Given the description of an element on the screen output the (x, y) to click on. 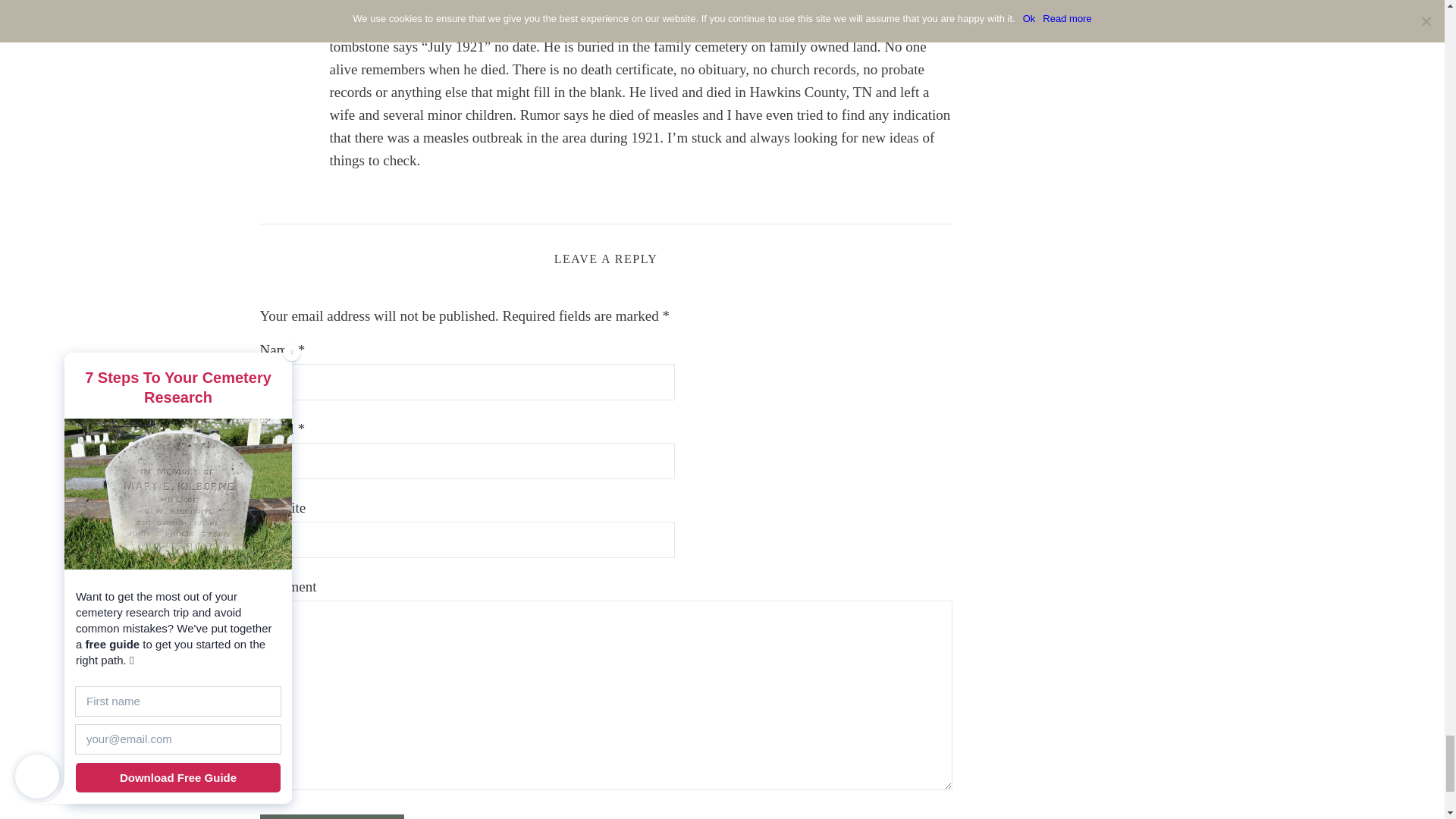
Post Comment (331, 816)
